Given the description of an element on the screen output the (x, y) to click on. 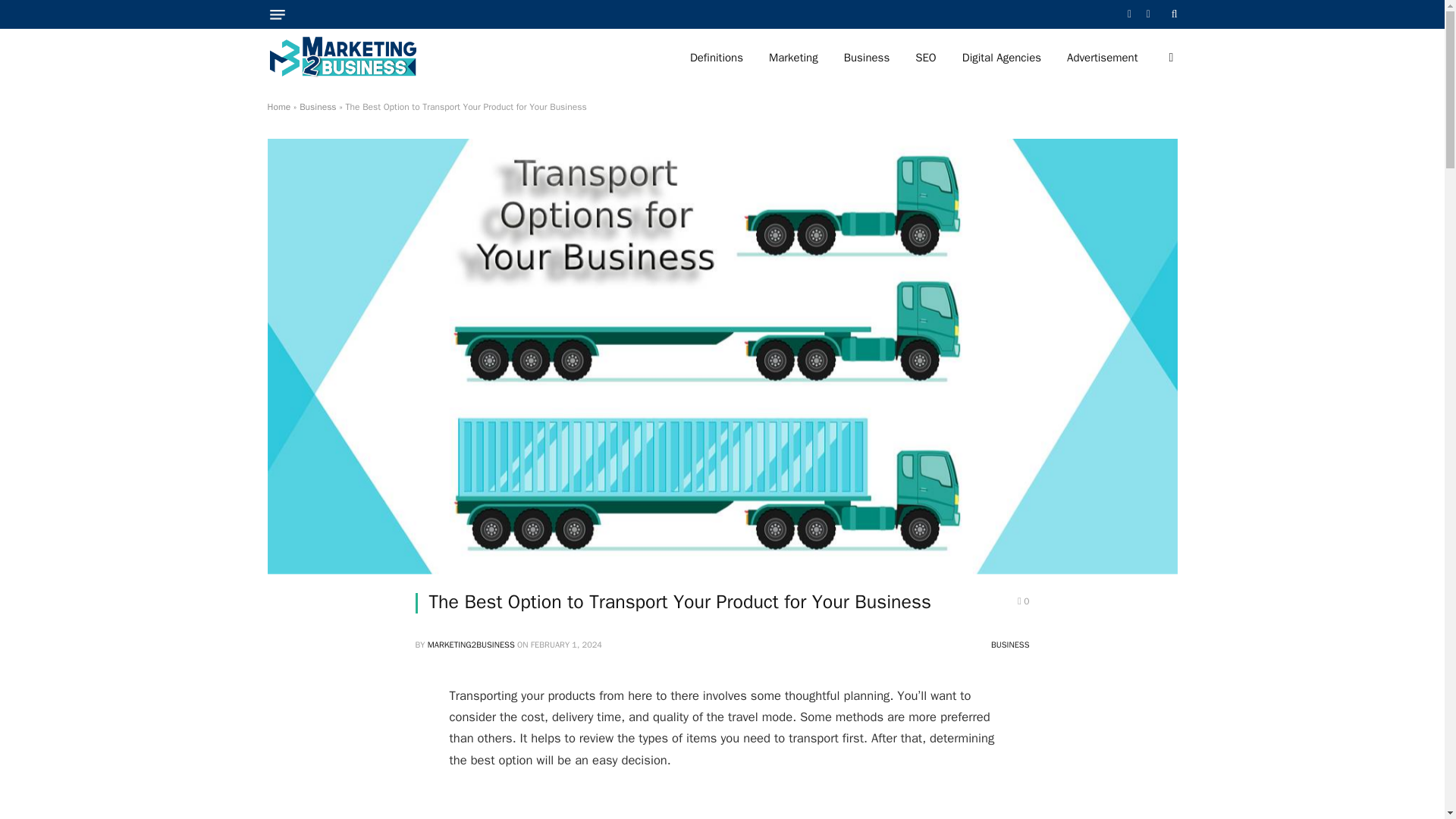
Switch to Dark Design - easier on eyes. (1168, 57)
2024-02-01 (566, 644)
BUSINESS (1010, 644)
Digital Agencies (1001, 57)
Business (317, 106)
Marketing2Business (341, 57)
Business (866, 57)
Posts by marketing2business (471, 644)
Home (277, 106)
Advertisement (1102, 57)
Definitions (716, 57)
MARKETING2BUSINESS (471, 644)
Marketing (793, 57)
